Given the description of an element on the screen output the (x, y) to click on. 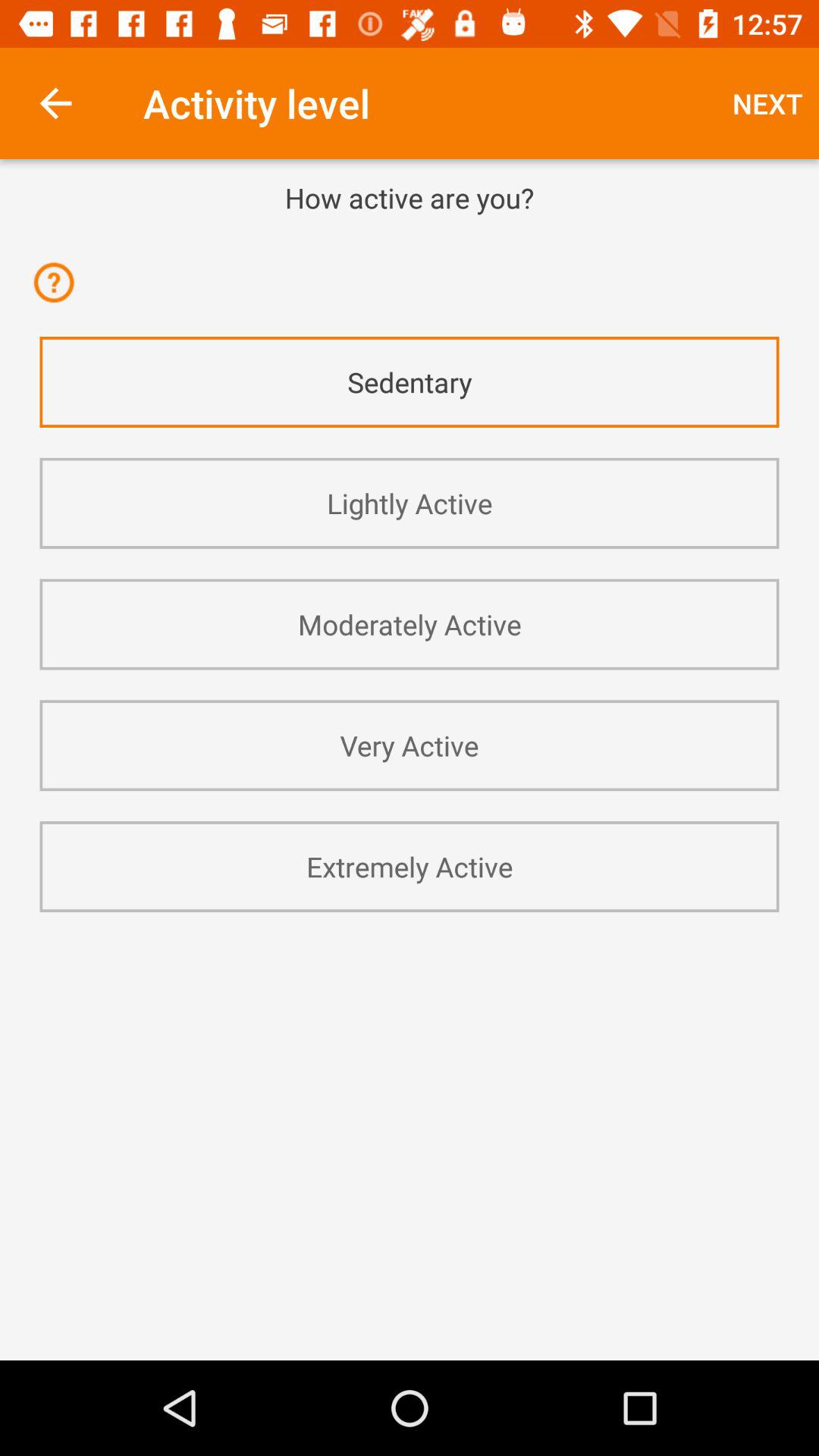
tap app below the moderately active app (409, 745)
